Given the description of an element on the screen output the (x, y) to click on. 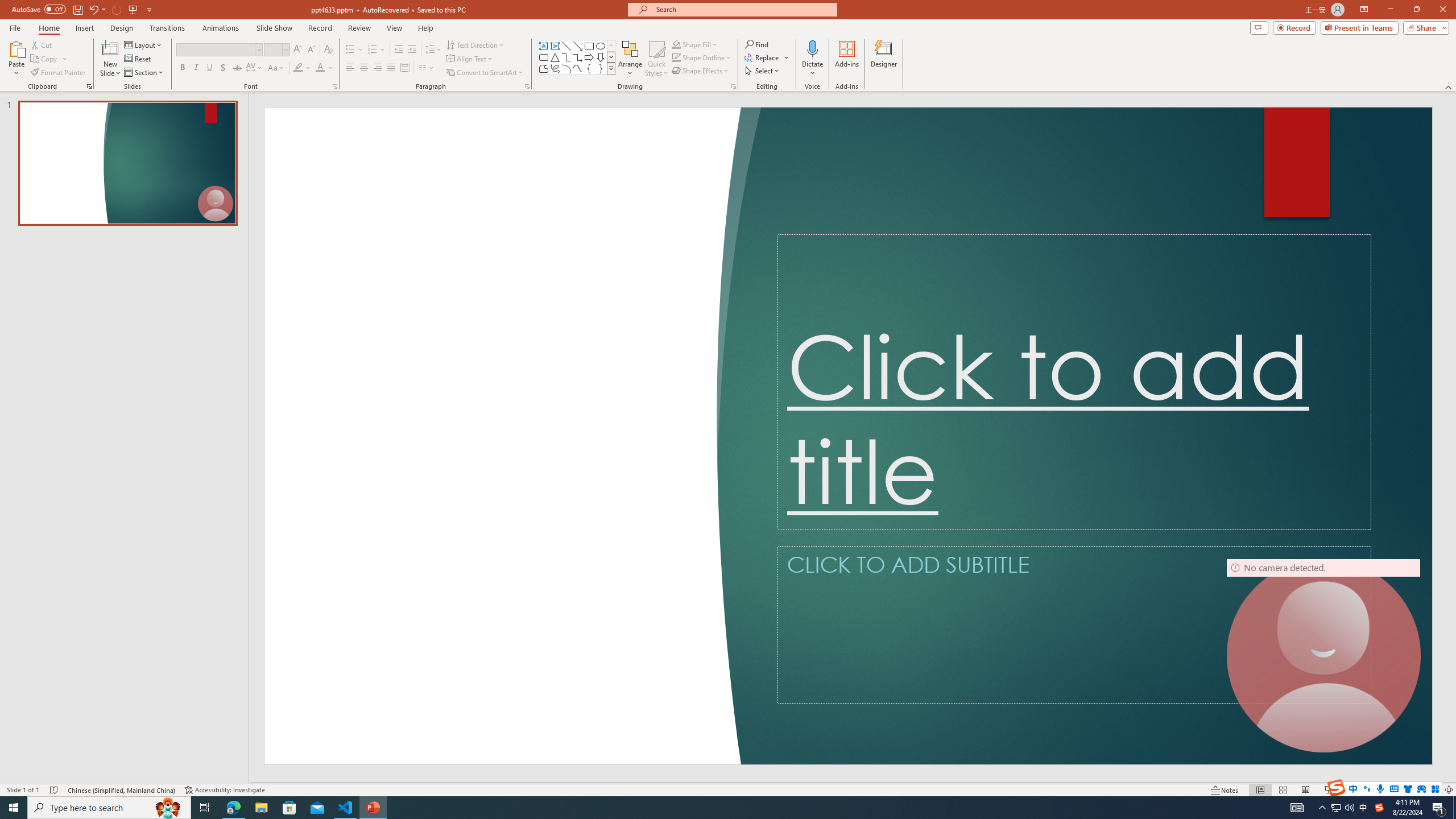
Columns (426, 67)
Decrease Indent (398, 49)
Shape Fill Orange, Accent 2 (675, 44)
Format Object... (733, 85)
Character Spacing (254, 67)
Paragraph... (526, 85)
Arrow: Right (589, 57)
Shadow (223, 67)
